Given the description of an element on the screen output the (x, y) to click on. 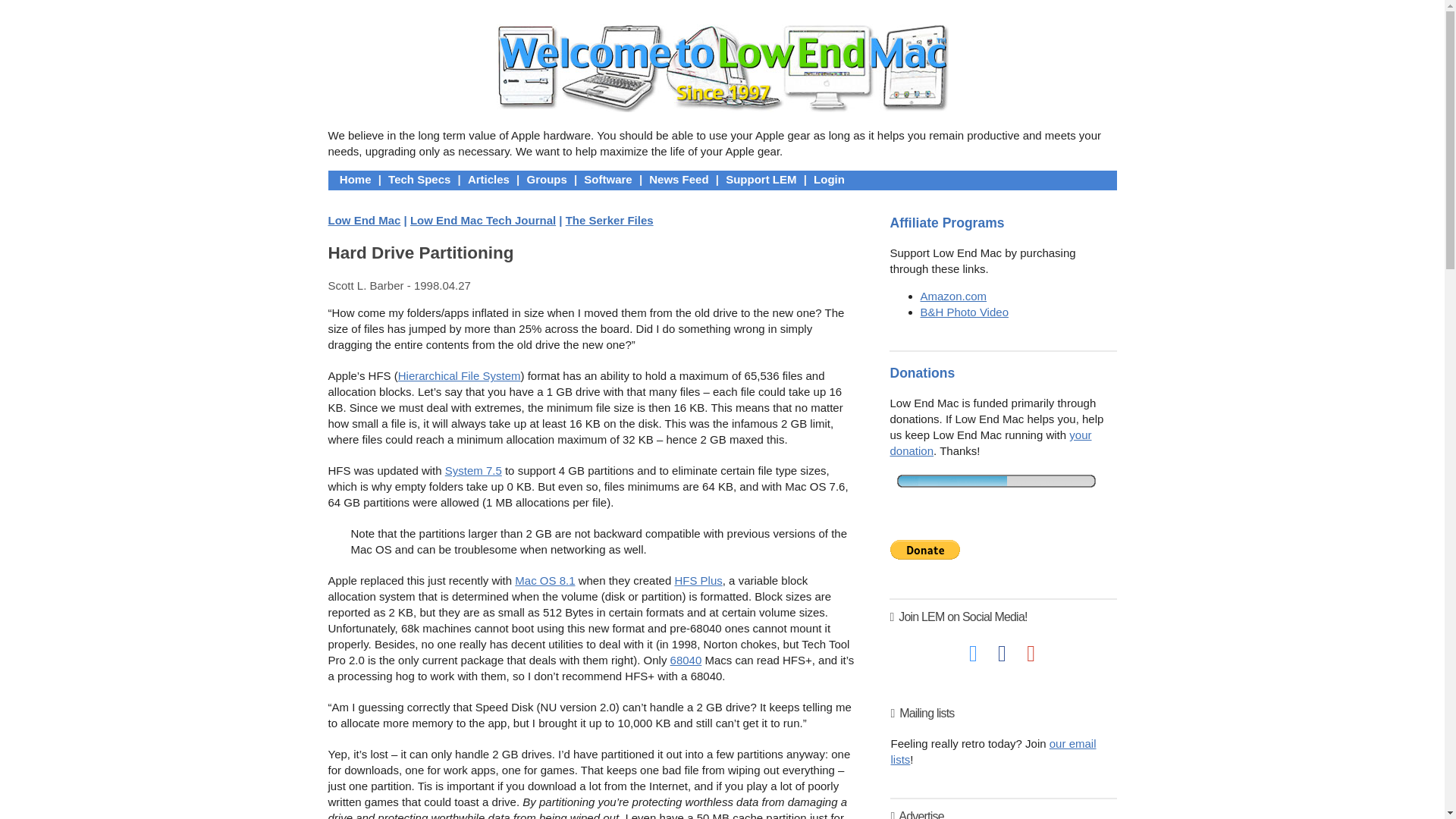
Groups (546, 178)
Hierarchical File System (459, 375)
Amazon (953, 295)
68040 (685, 659)
Low End Mac Tech Journal (483, 219)
Mac Software Links (606, 178)
Login (828, 178)
Tech Specs (419, 178)
Home (355, 178)
Mac OS 8.1 (545, 580)
